Given the description of an element on the screen output the (x, y) to click on. 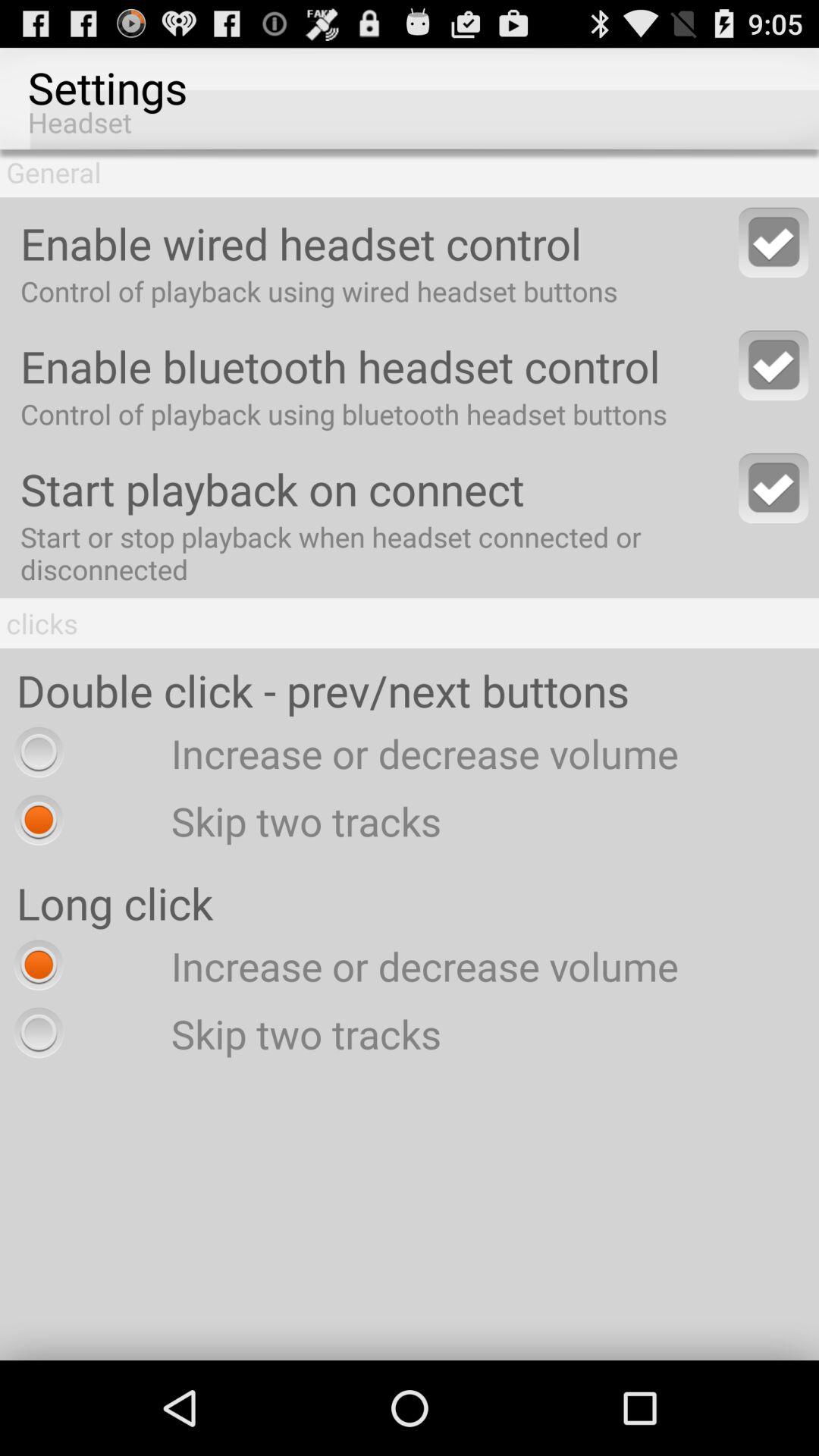
click enable (773, 242)
